Given the description of an element on the screen output the (x, y) to click on. 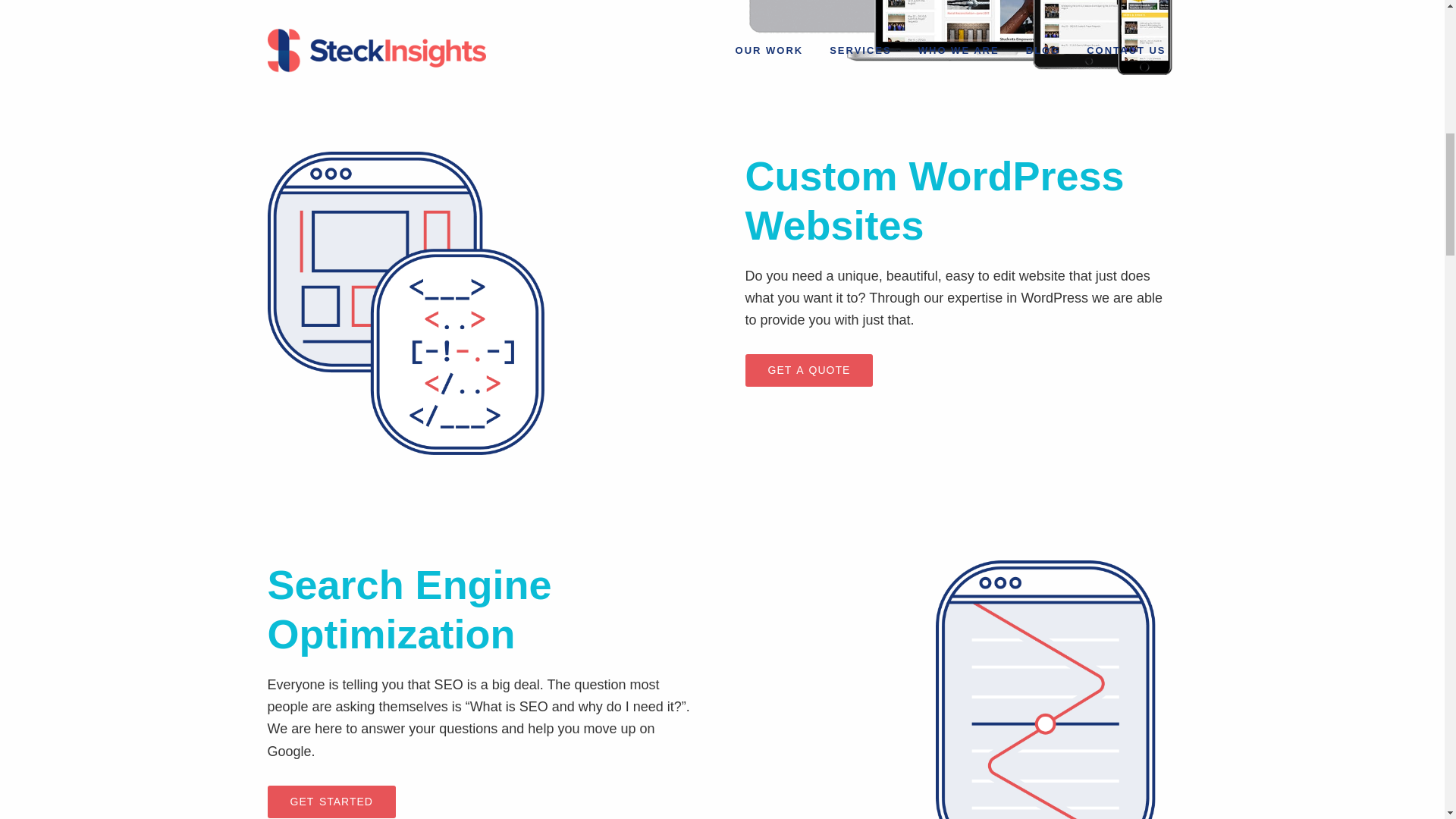
BROWSE OUR PORTFOLIO (367, 586)
GET A QUOTE (808, 793)
